Given the description of an element on the screen output the (x, y) to click on. 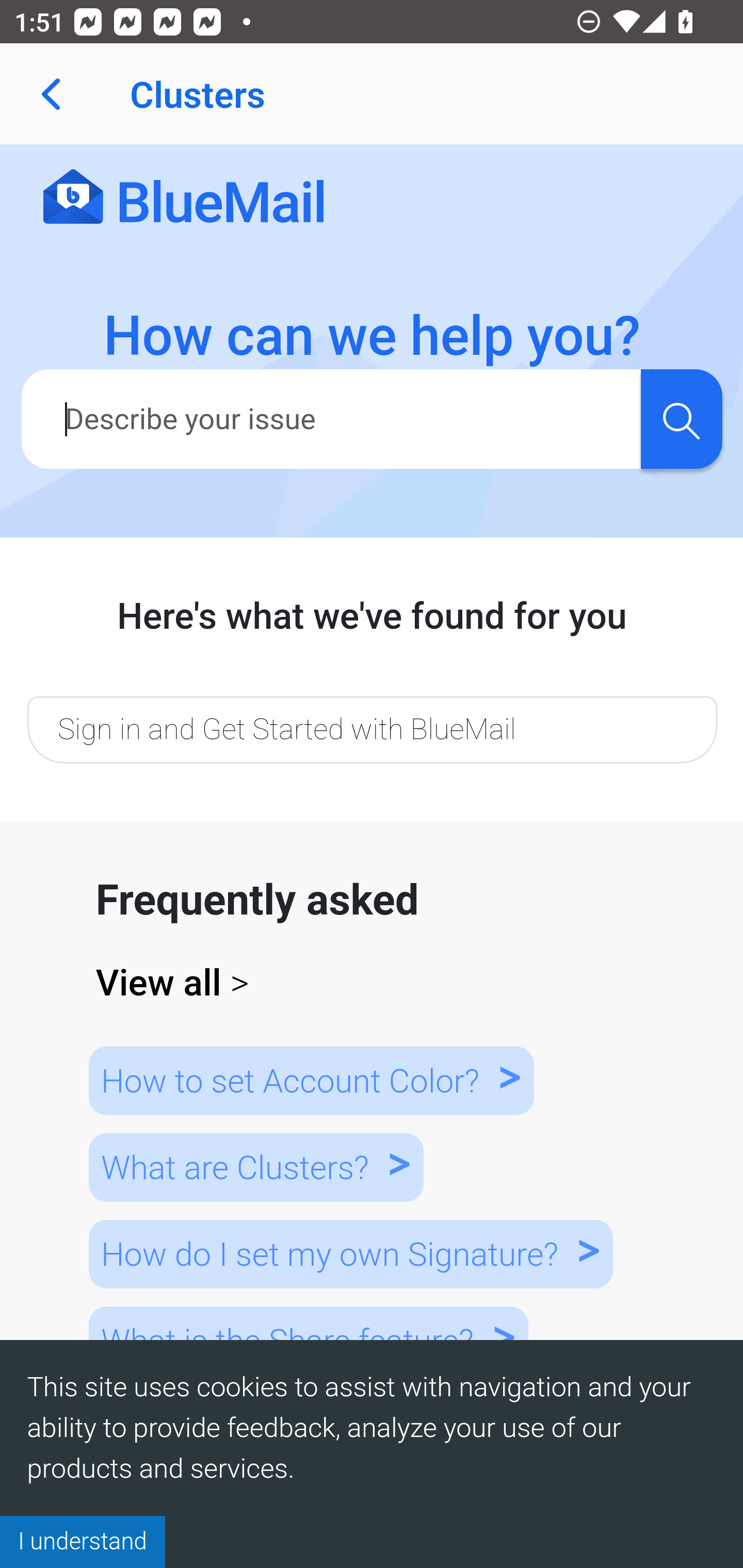
Navigate up (50, 93)
BlueMail Logo (184, 197)
How can we help you? (372, 336)
search (680, 418)
Sign in and Get Started with BlueMail (371, 728)
View all> (372, 982)
How to set Account Color?> (310, 1080)
What are Clusters?> (255, 1166)
How do I set my own Signature?> (349, 1253)
Accept cookies (83, 1541)
